Given the description of an element on the screen output the (x, y) to click on. 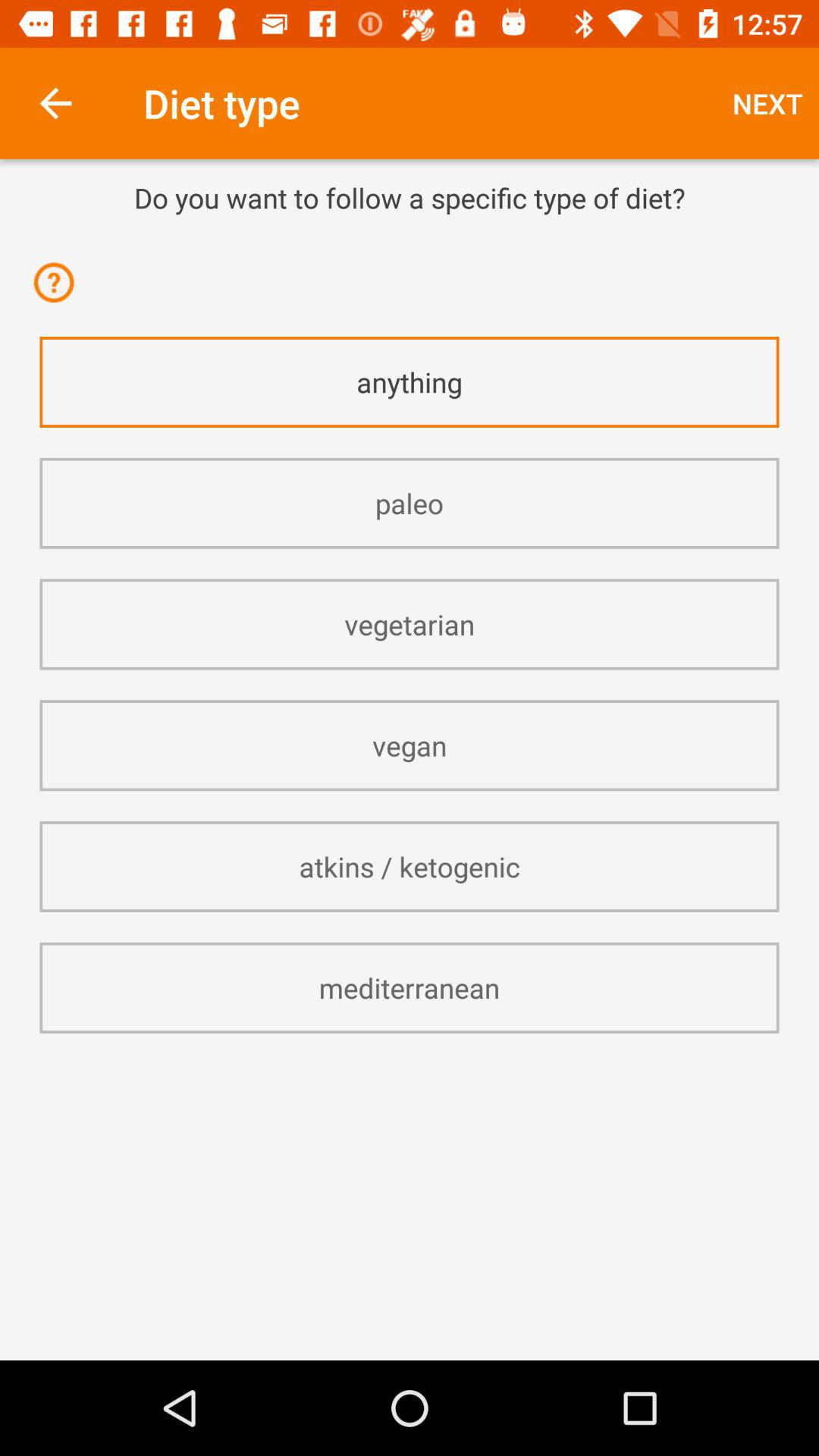
select icon below do you want item (409, 237)
